Given the description of an element on the screen output the (x, y) to click on. 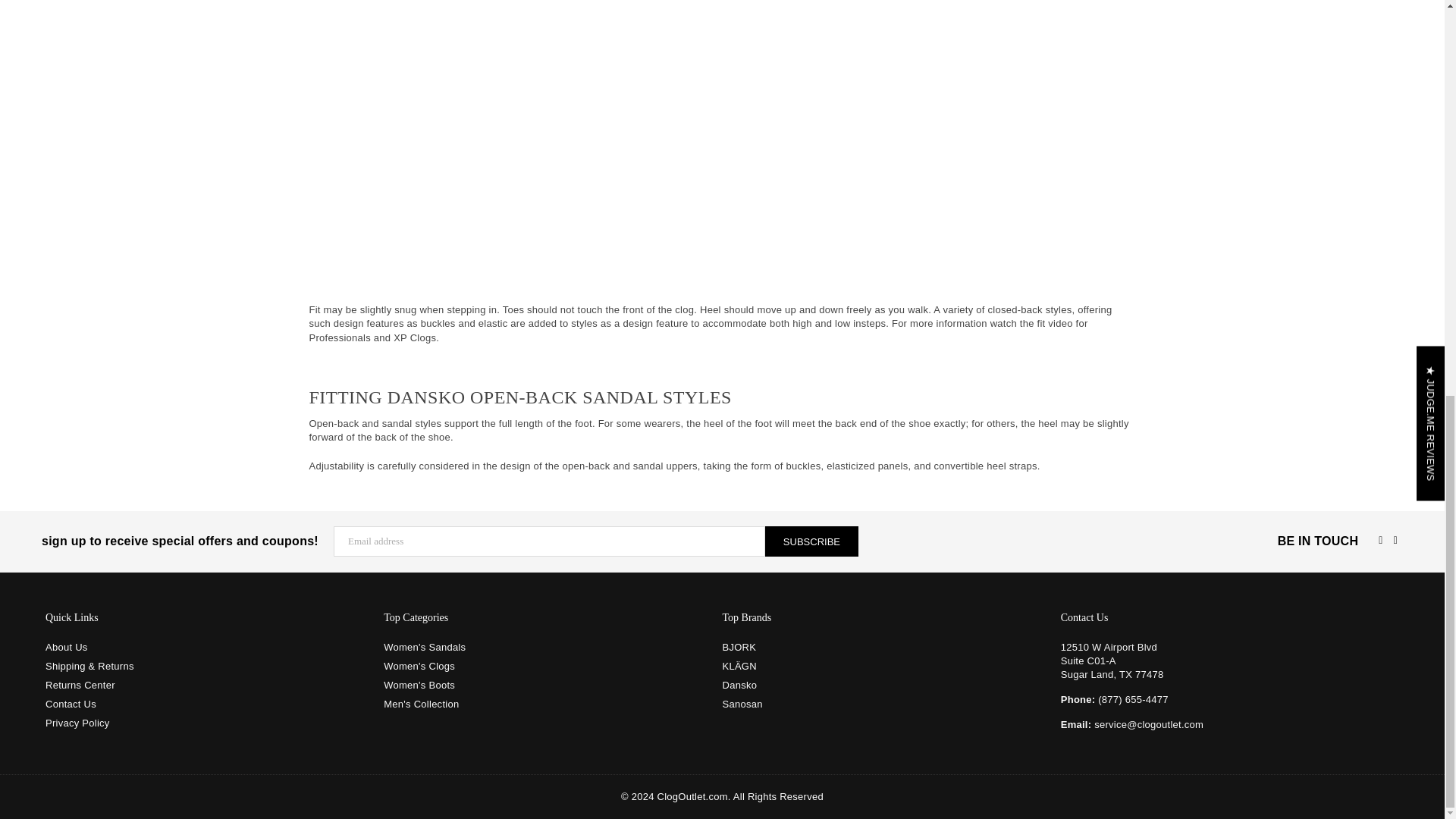
ClogOutlet.com on Twitter (1396, 540)
ClogOutlet.com on Facebook (1380, 540)
